Given the description of an element on the screen output the (x, y) to click on. 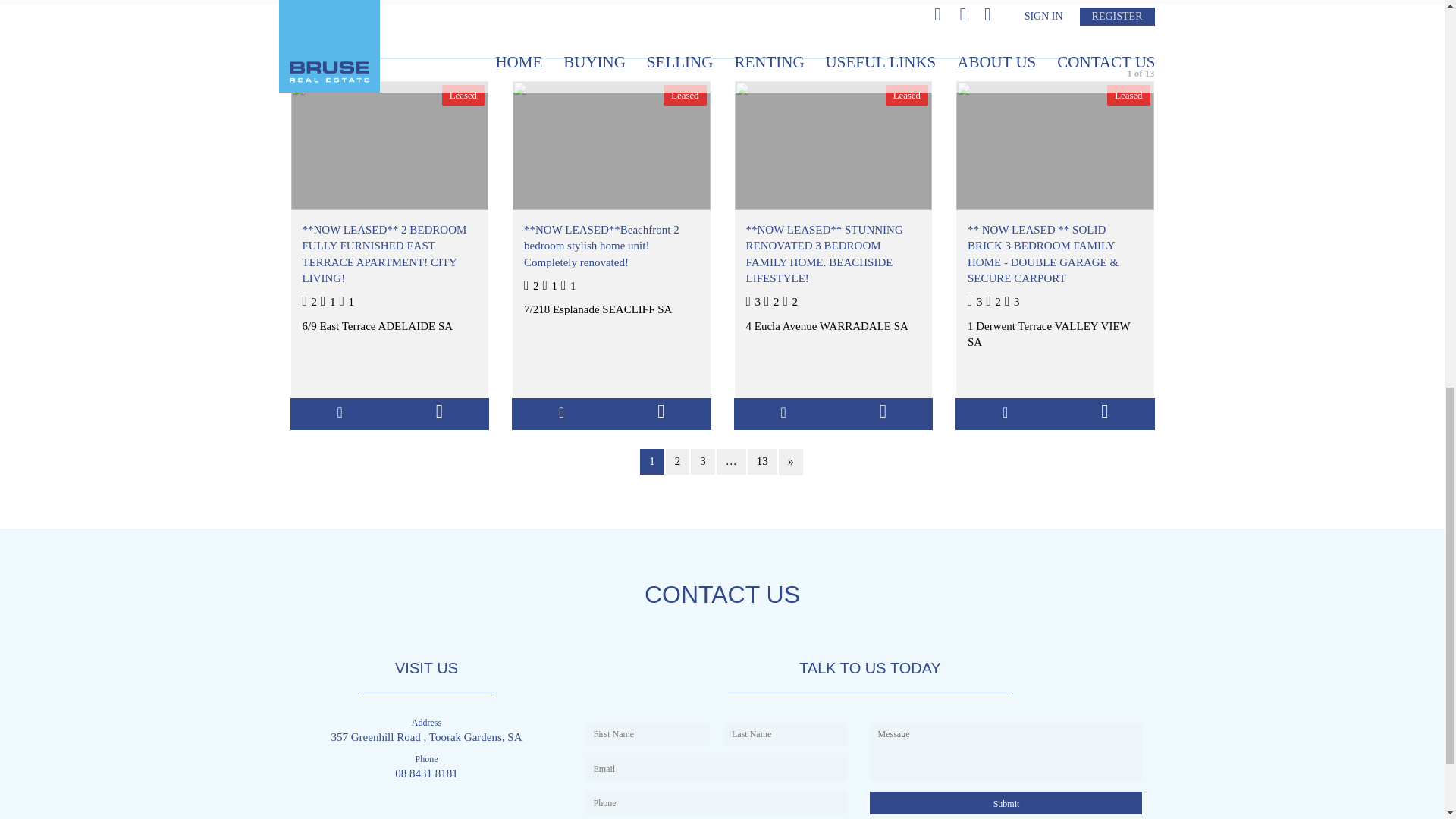
Contact Agent (882, 413)
Leased (390, 145)
Add Favourites (339, 413)
Add Favourites (1005, 413)
Contact Agent (1104, 413)
Submit (1005, 802)
Contact Agent (438, 413)
Add Favourites (561, 413)
Contact Agent (660, 413)
Add Favourites (782, 413)
